Given the description of an element on the screen output the (x, y) to click on. 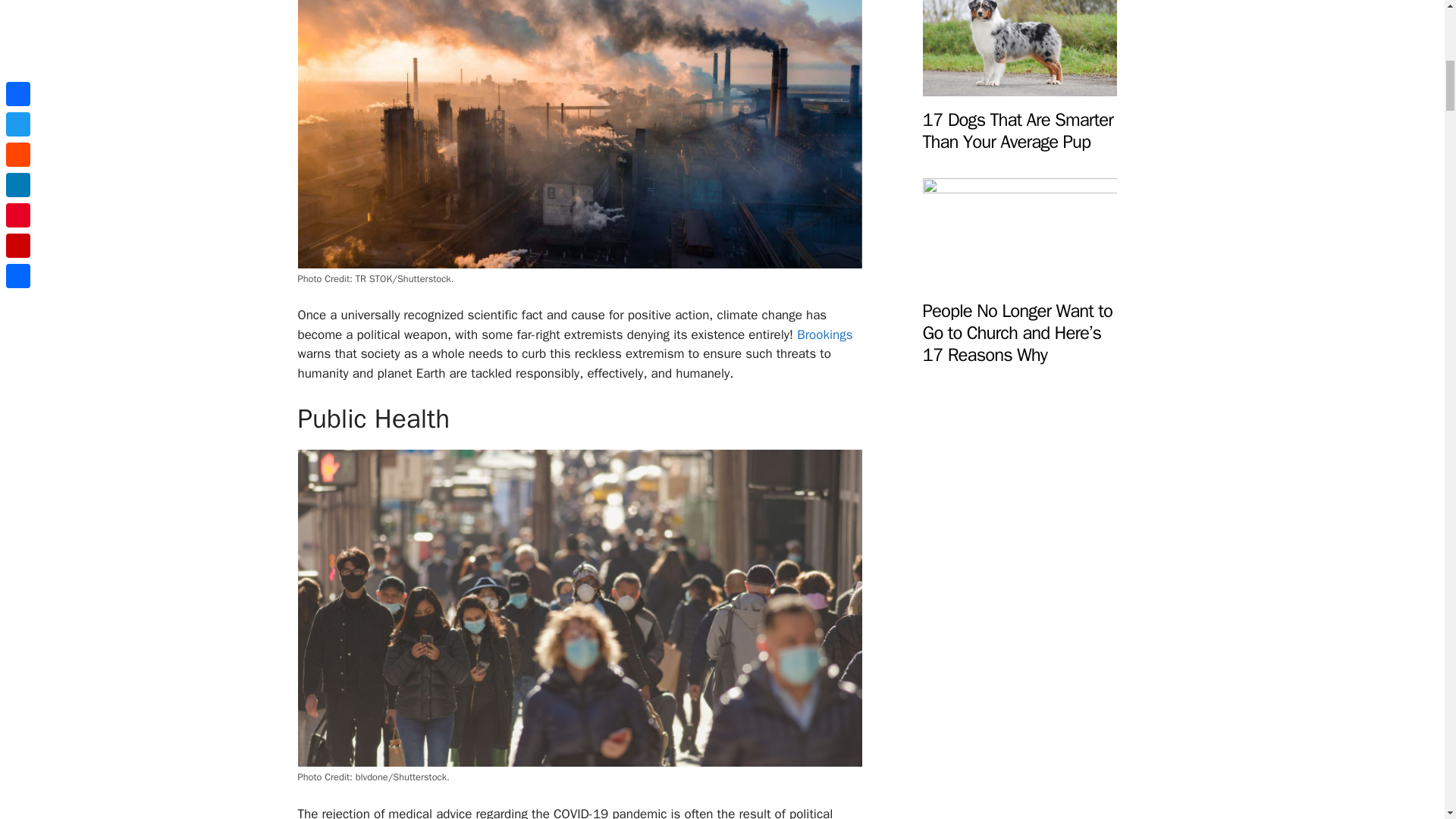
Brookings (823, 334)
17 Dogs That Are Smarter Than Your Average Pup (1018, 85)
